Given the description of an element on the screen output the (x, y) to click on. 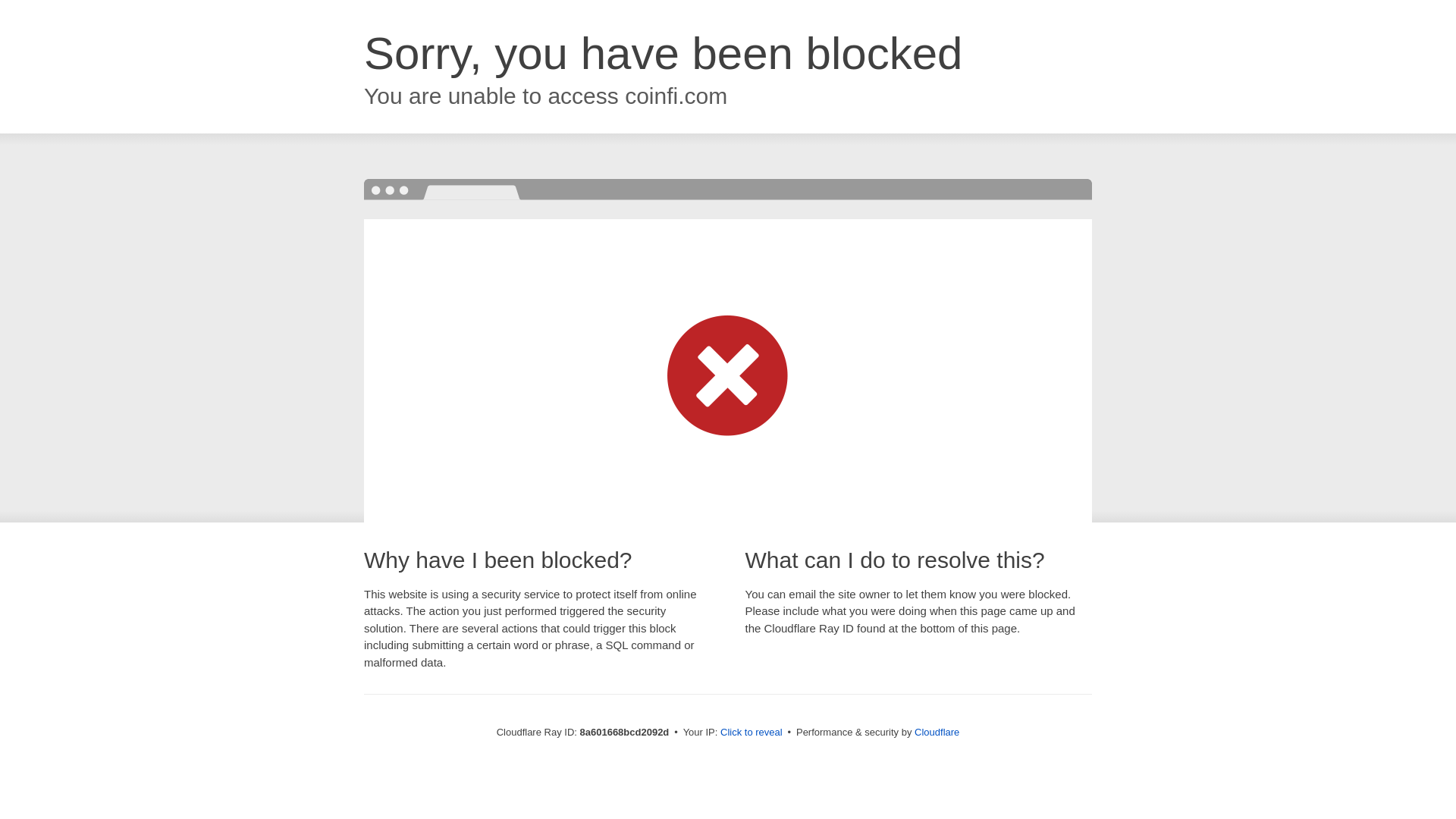
Click to reveal (751, 732)
Cloudflare (936, 731)
